Given the description of an element on the screen output the (x, y) to click on. 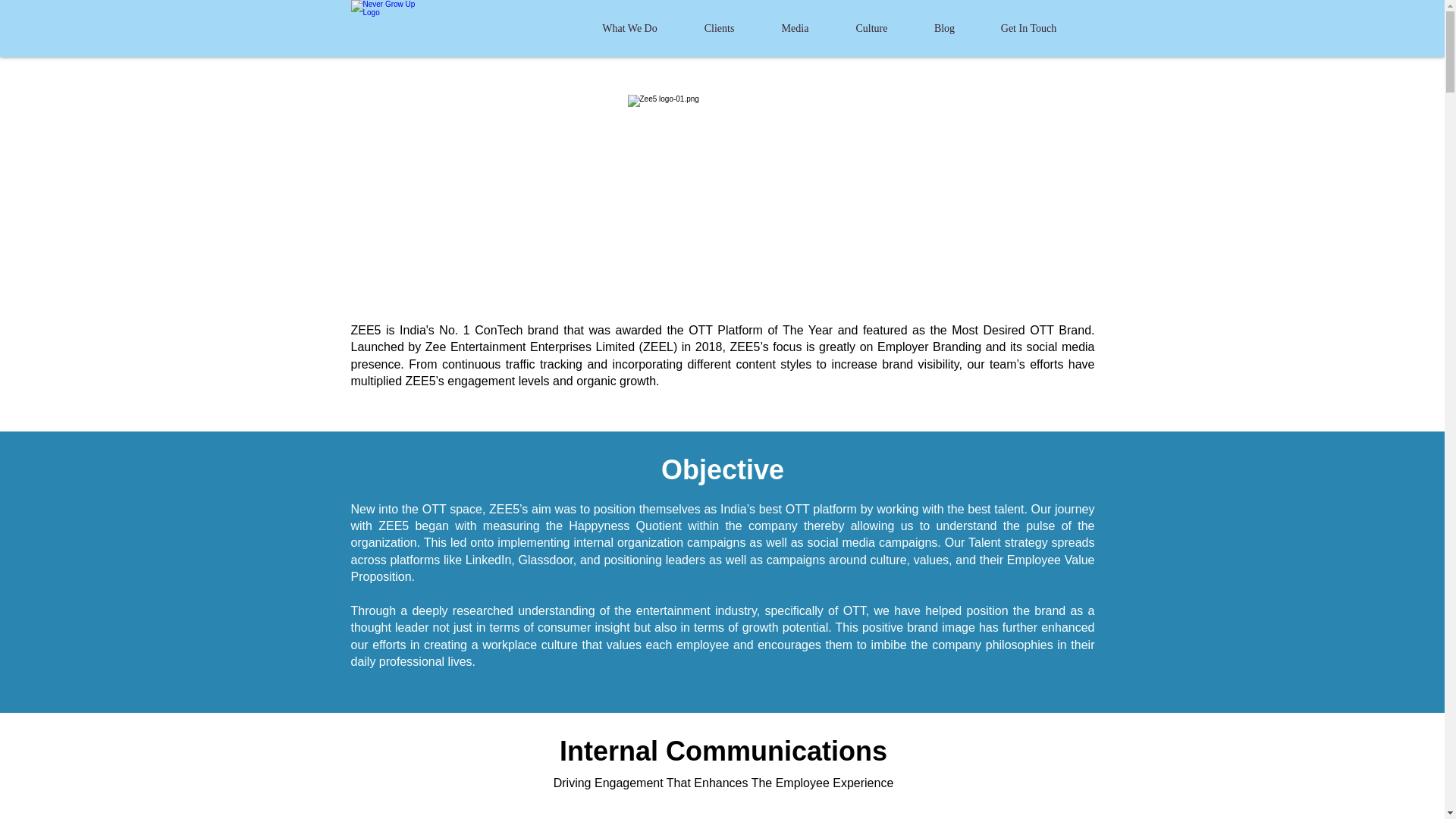
Get In Touch (1029, 27)
Clients (719, 27)
What We Do (630, 27)
Media (795, 27)
Blog (944, 27)
Culture (871, 27)
